Given the description of an element on the screen output the (x, y) to click on. 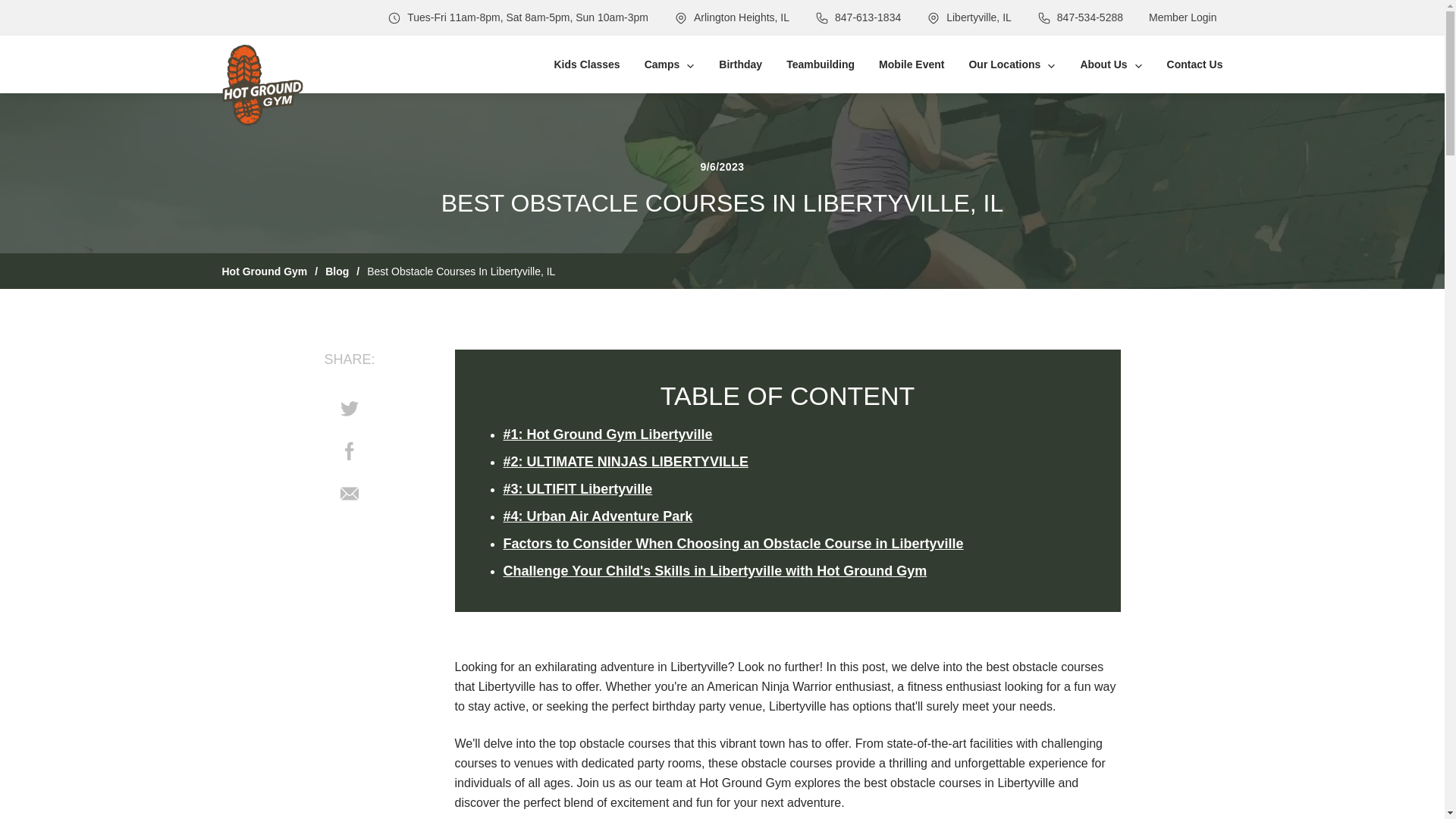
Libertyville, IL (978, 17)
Kids Classes (586, 64)
Birthday (740, 64)
Our Locations (1011, 64)
847-534-5288 (1089, 17)
847-613-1834 (867, 17)
About Us (1110, 64)
Member Login (1182, 17)
Teambuilding (820, 64)
Arlington Heights, IL (741, 17)
Mobile Event (911, 64)
Contact Us (1195, 64)
Camps (670, 64)
